Given the description of an element on the screen output the (x, y) to click on. 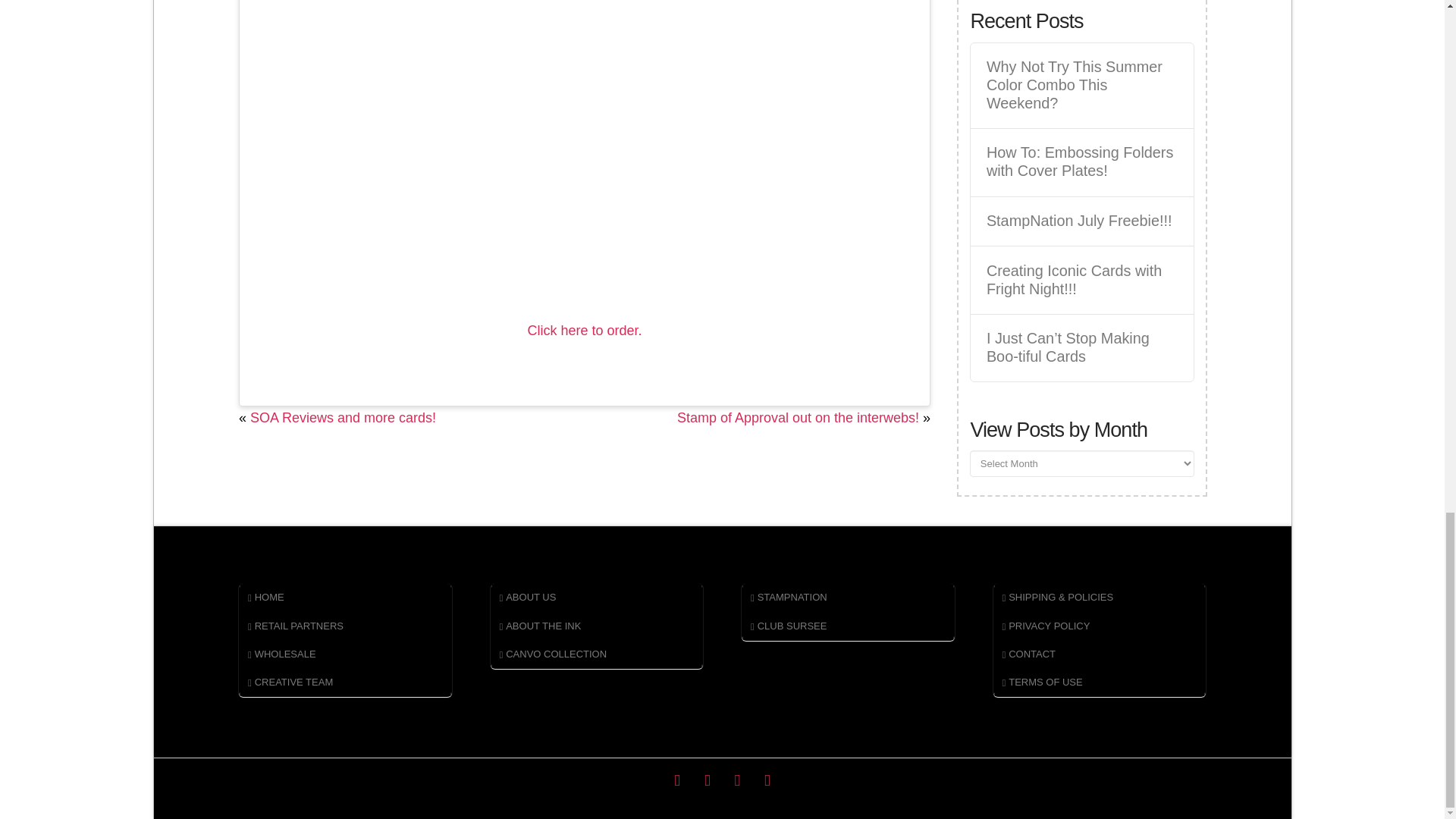
SOA Reviews and more cards! (342, 417)
Click here to order. (584, 330)
Stamp of Approval out on the interwebs! (797, 417)
